Given the description of an element on the screen output the (x, y) to click on. 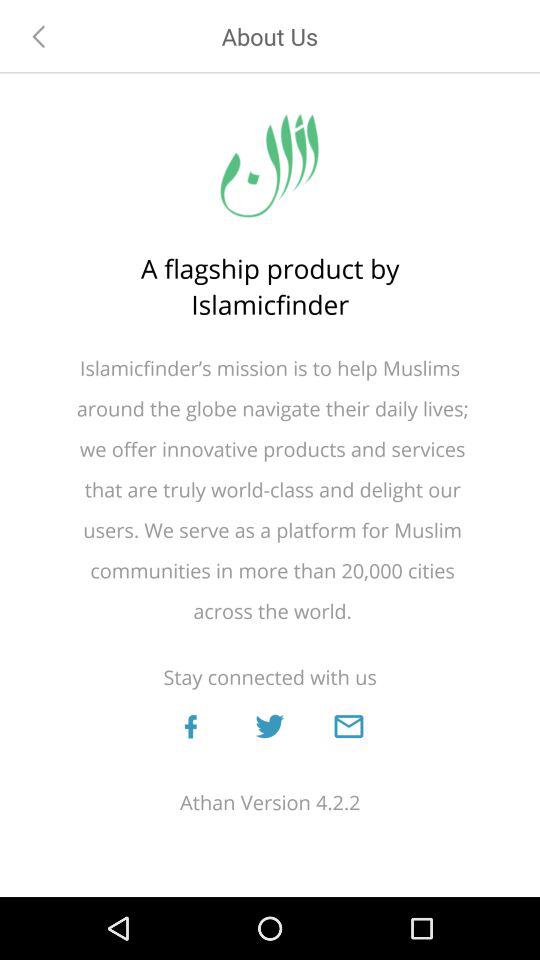
open the item to the left of about us (39, 36)
